Given the description of an element on the screen output the (x, y) to click on. 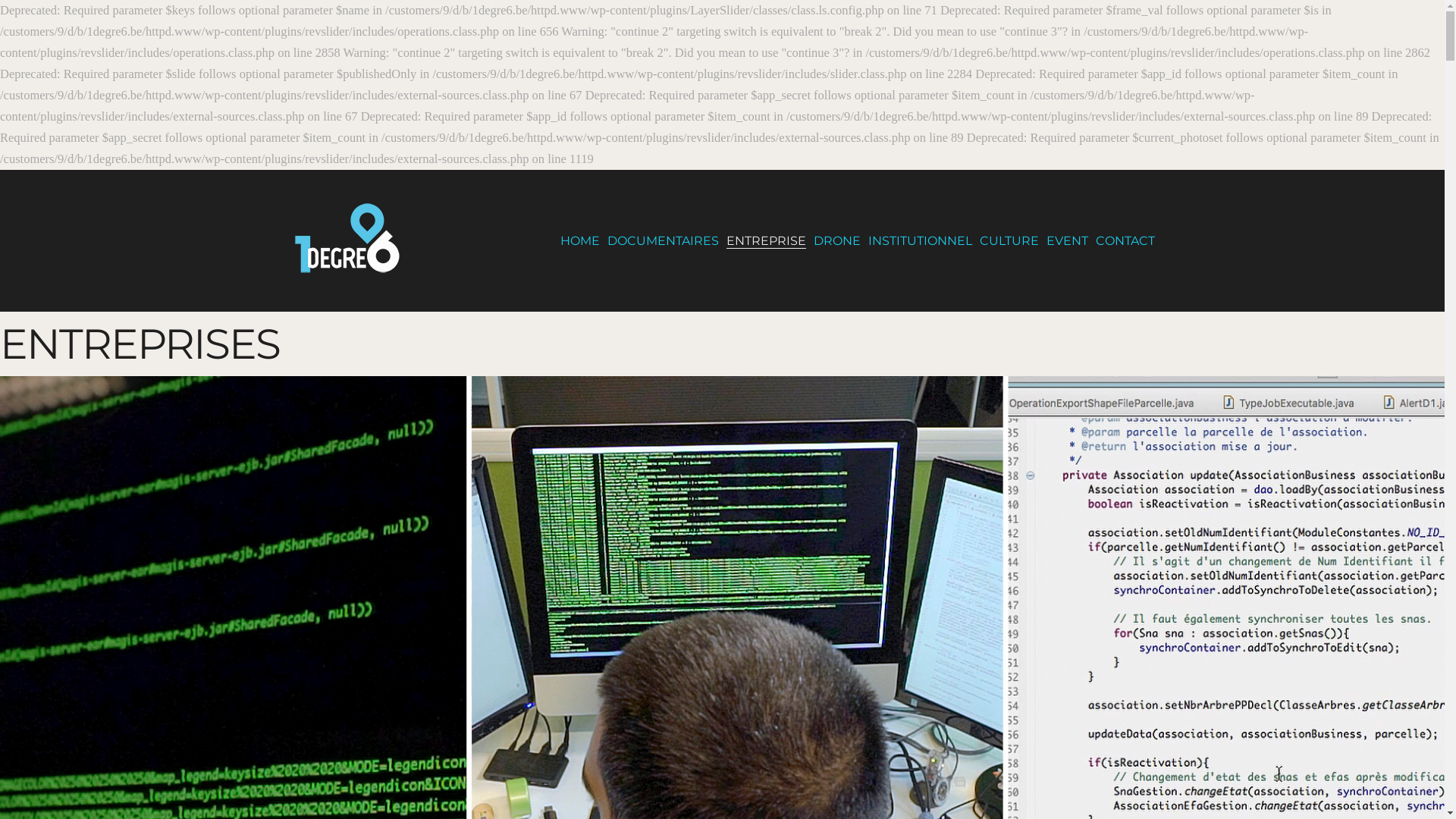
DOCUMENTAIRES Element type: text (662, 240)
CULTURE Element type: text (1008, 240)
CONTACT Element type: text (1124, 240)
EVENT Element type: text (1067, 240)
DRONE Element type: text (835, 240)
INSTITUTIONNEL Element type: text (919, 240)
HOME Element type: text (579, 240)
ENTREPRISE Element type: text (766, 240)
